Given the description of an element on the screen output the (x, y) to click on. 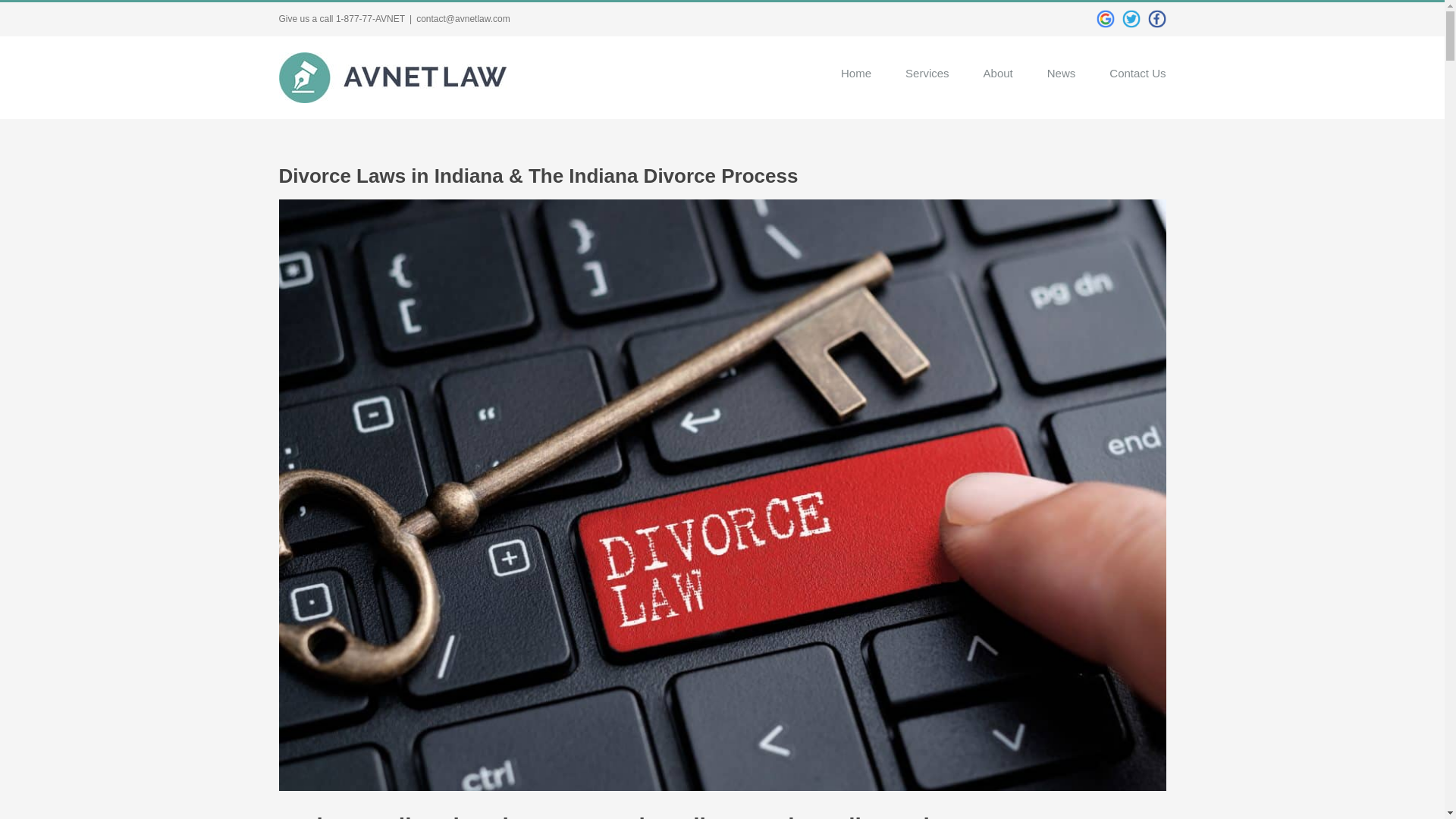
Facebook (1157, 18)
Google My Business (1105, 18)
Twitter (1131, 18)
Twitter (1131, 18)
Google My Business (1105, 18)
1-877-77-AVNET (370, 18)
Facebook (1157, 18)
